Given the description of an element on the screen output the (x, y) to click on. 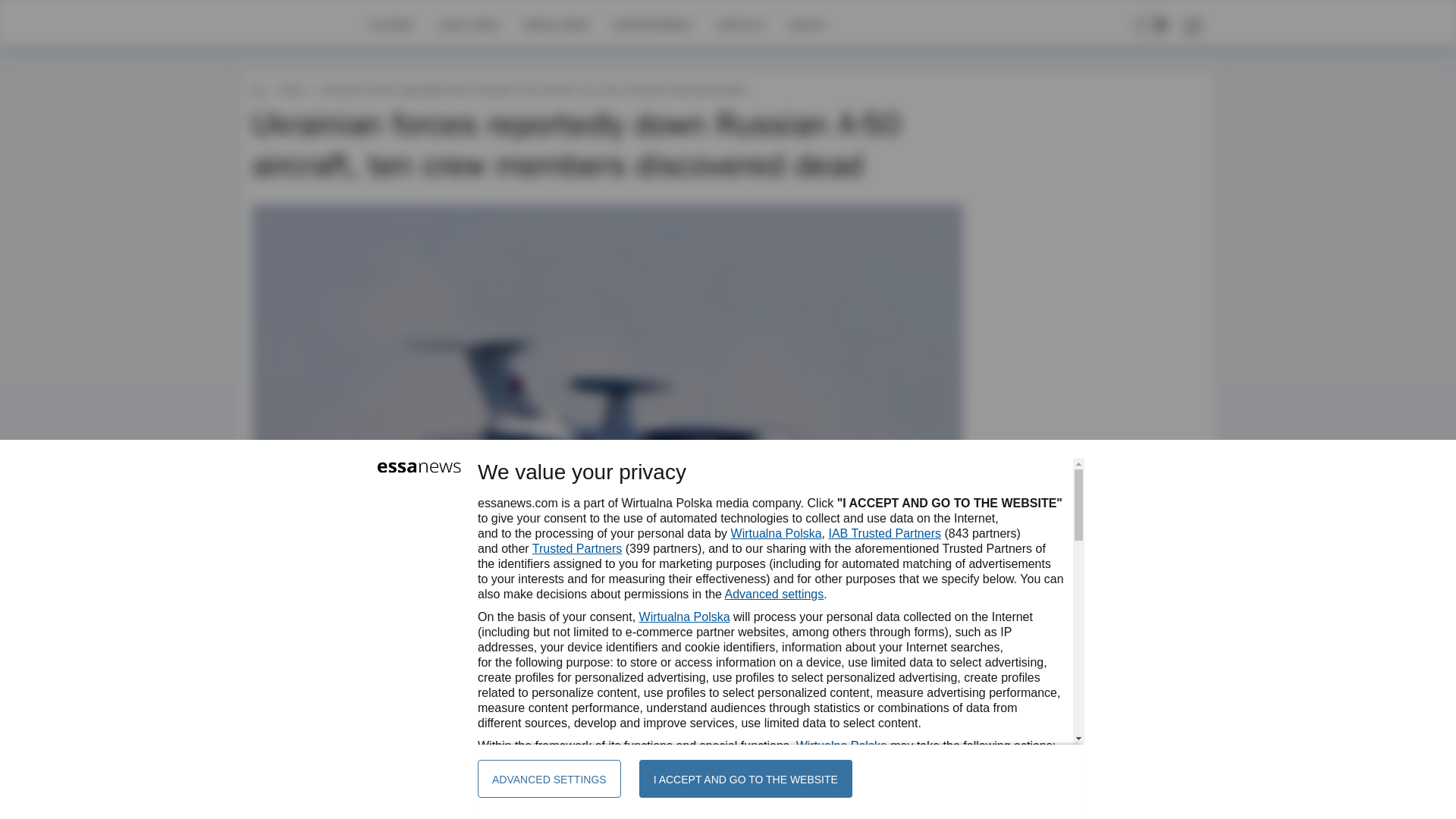
HEALTH (807, 24)
US NEWS (390, 24)
SHARE (936, 649)
ENTERTAINMENT (652, 24)
essanews.com (257, 89)
LOCAL NEWS (468, 24)
PAB (298, 641)
LIFESTYLE (740, 24)
News (291, 89)
WORLD NEWS (555, 24)
